Given the description of an element on the screen output the (x, y) to click on. 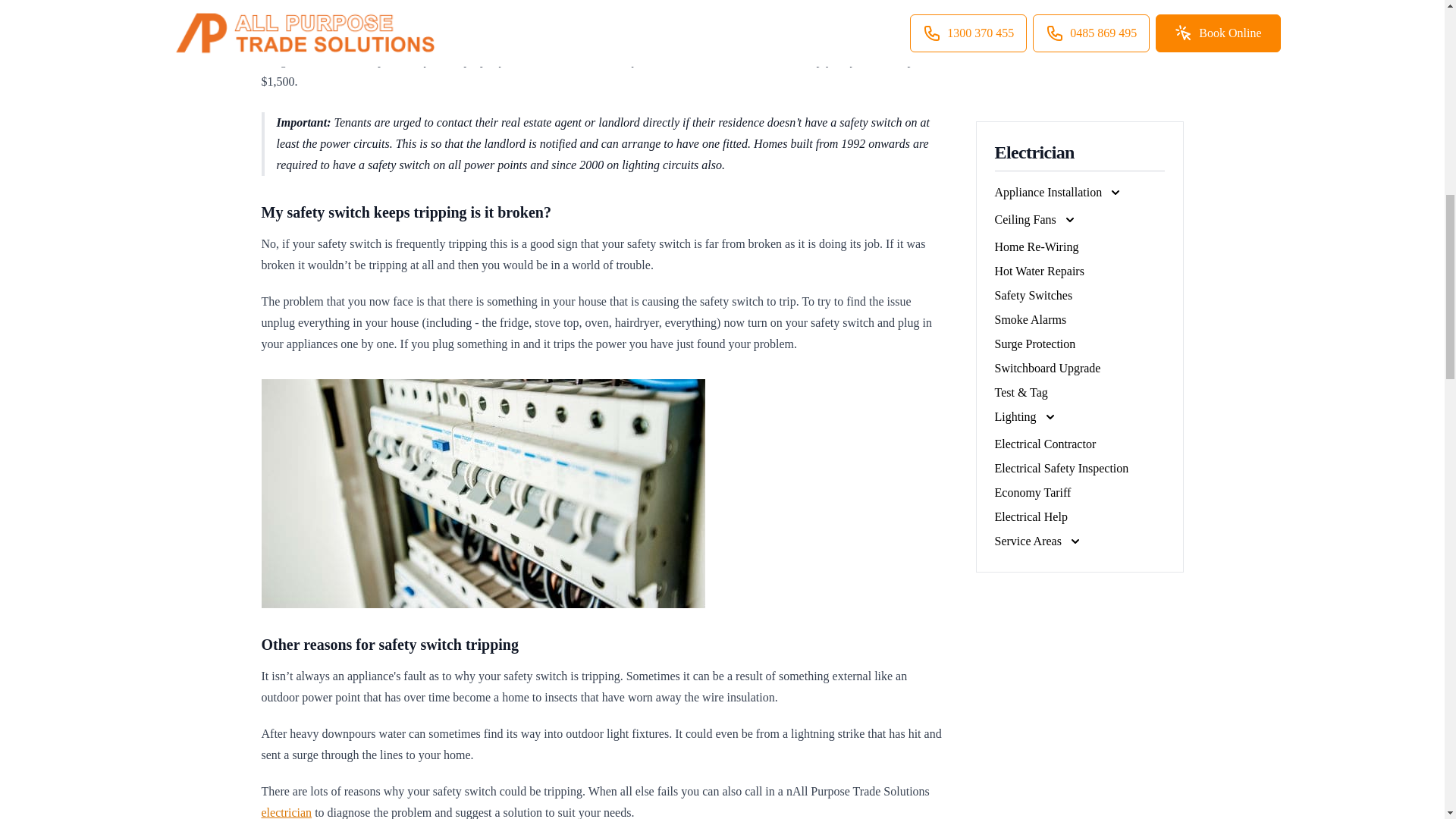
electrician (285, 812)
LED Lighting (482, 493)
Electrician Brisbane (285, 812)
